Given the description of an element on the screen output the (x, y) to click on. 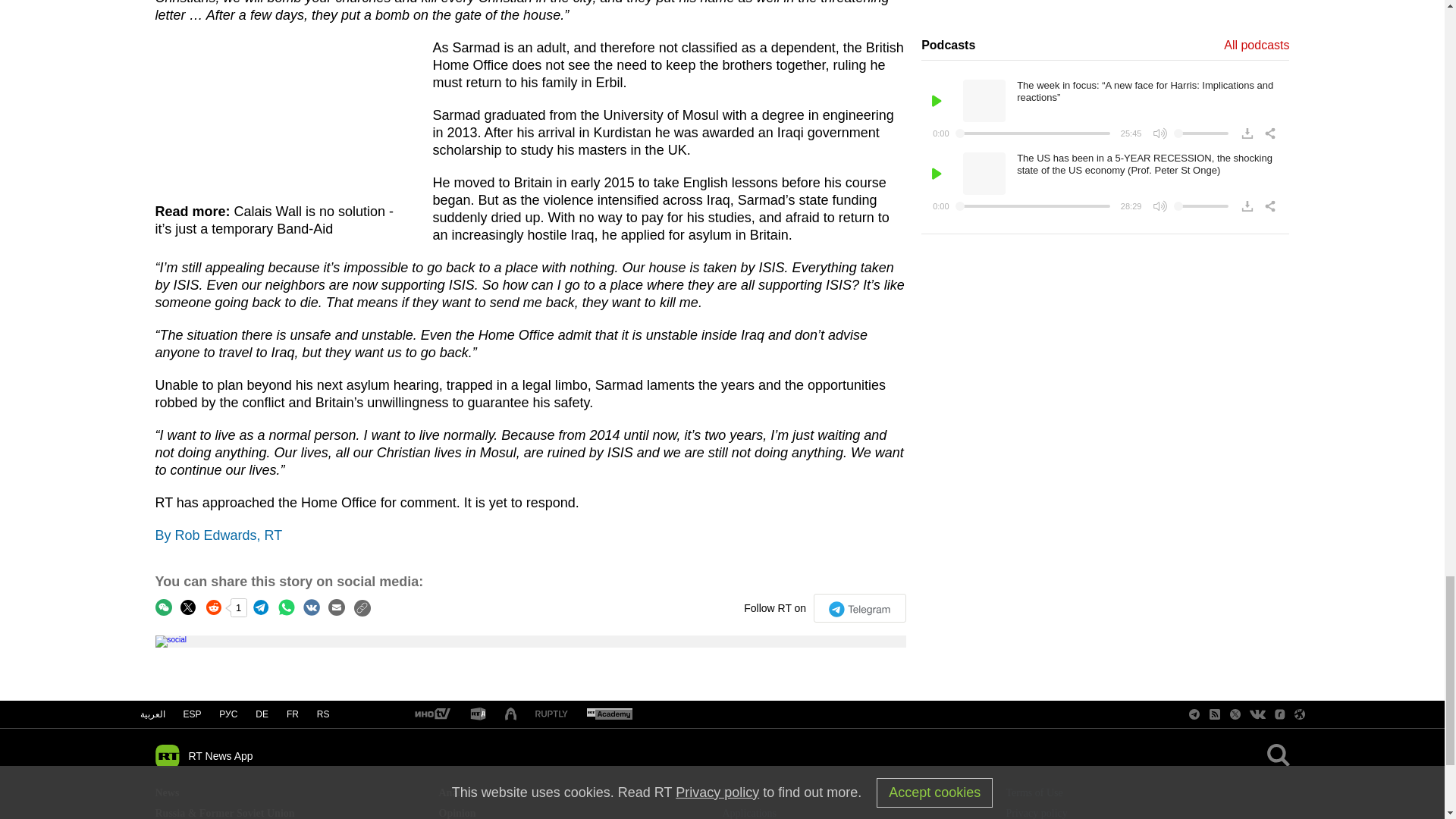
RT  (431, 714)
RT  (478, 714)
RT  (608, 714)
RT  (551, 714)
